Given the description of an element on the screen output the (x, y) to click on. 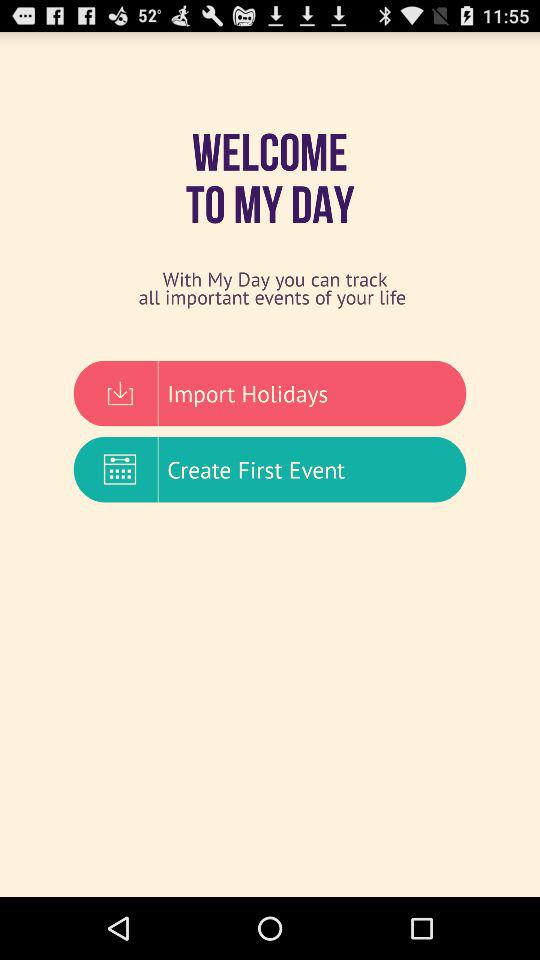
press item above create first event (269, 393)
